Given the description of an element on the screen output the (x, y) to click on. 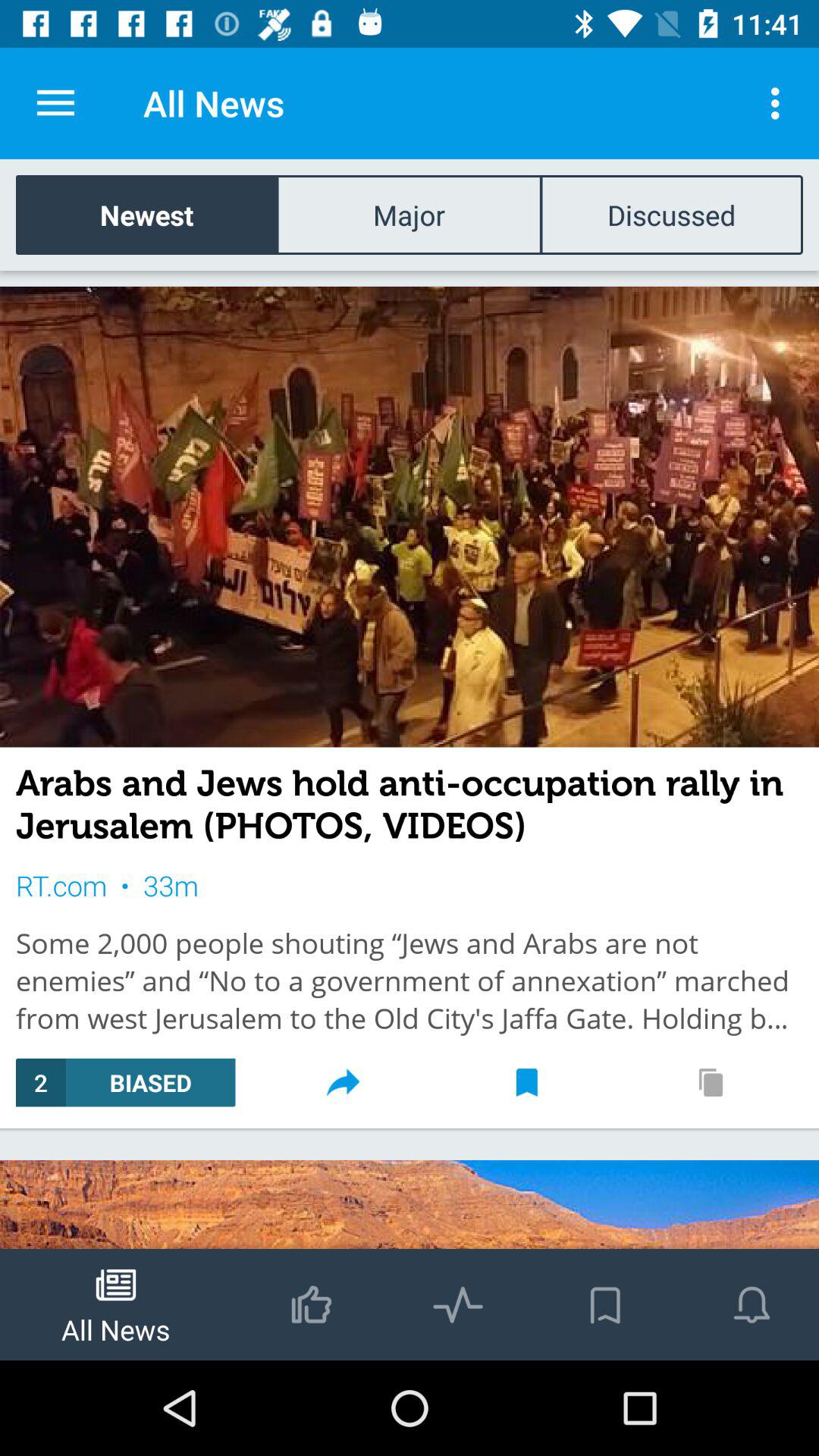
turn on the item to the right of newest icon (409, 214)
